Given the description of an element on the screen output the (x, y) to click on. 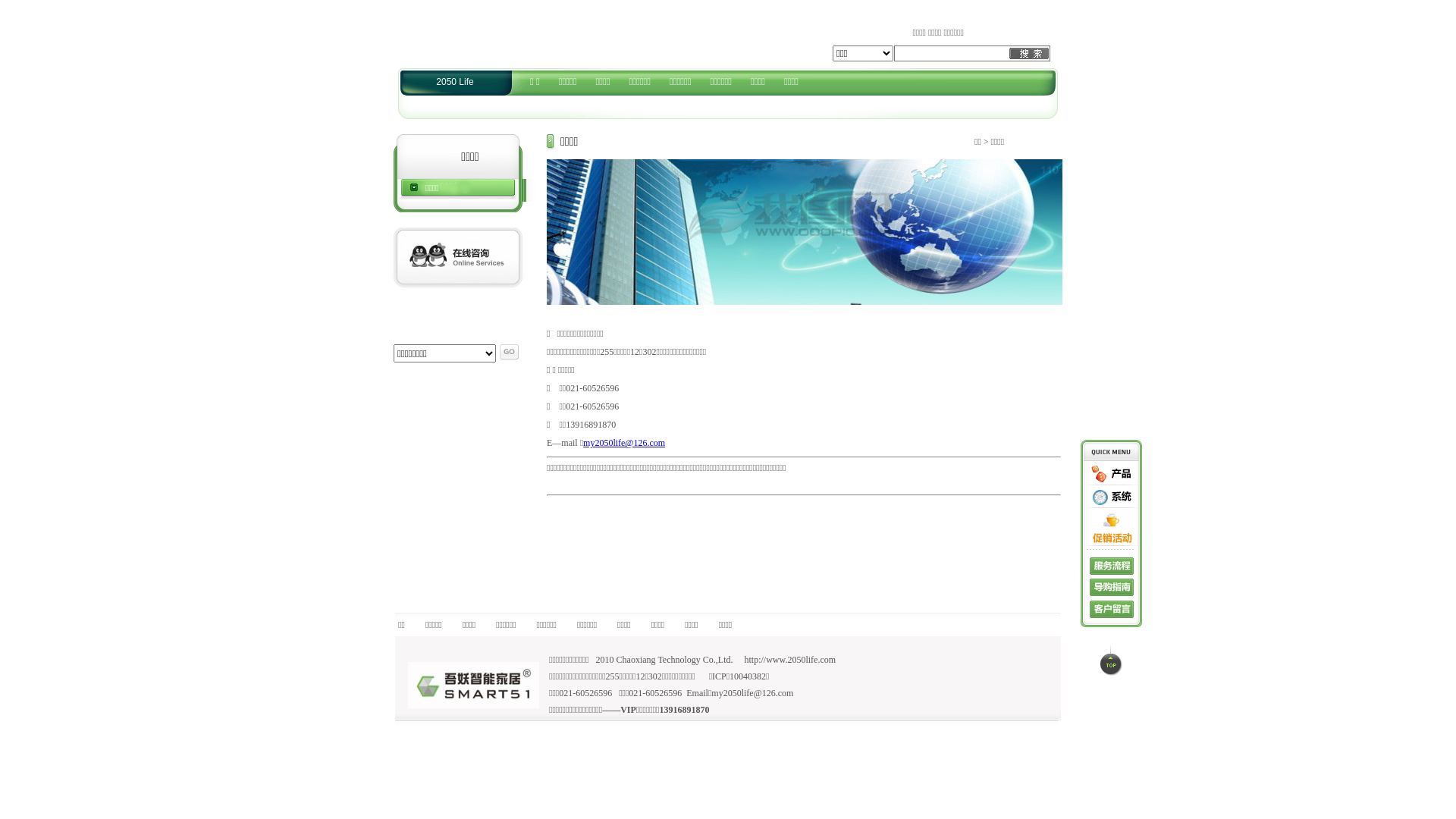
2050 Life Element type: text (454, 81)
my2050life@126.com Element type: text (624, 442)
